Given the description of an element on the screen output the (x, y) to click on. 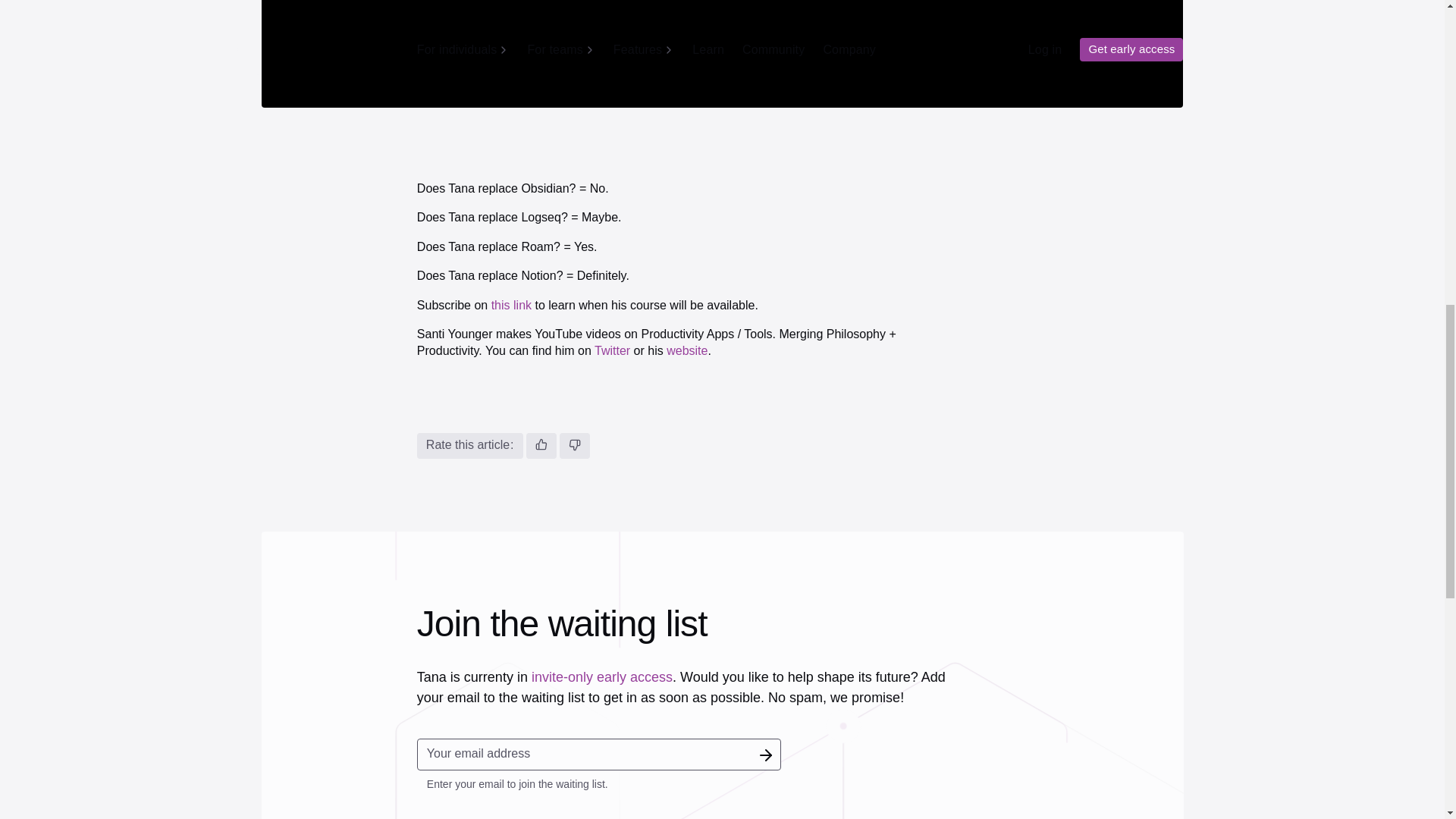
Twitter (612, 350)
this link (511, 305)
website (686, 350)
